Given the description of an element on the screen output the (x, y) to click on. 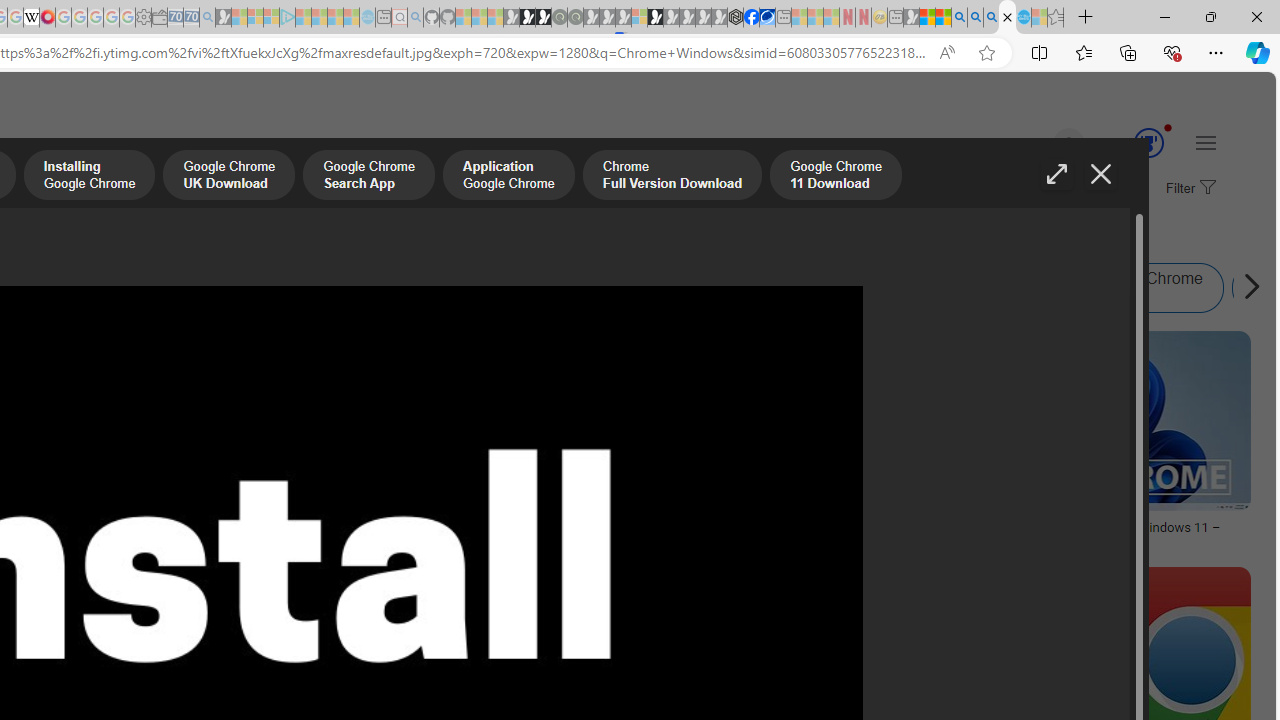
Installing Google Chrome (89, 177)
Google Chrome Win 7 (1060, 287)
Bing Real Estate - Home sales and rental listings - Sleeping (207, 17)
Favorites (1083, 52)
Application Google Chrome (507, 177)
Microsoft Start Gaming - Sleeping (223, 17)
Chromebook Accessories (260, 400)
